Given the description of an element on the screen output the (x, y) to click on. 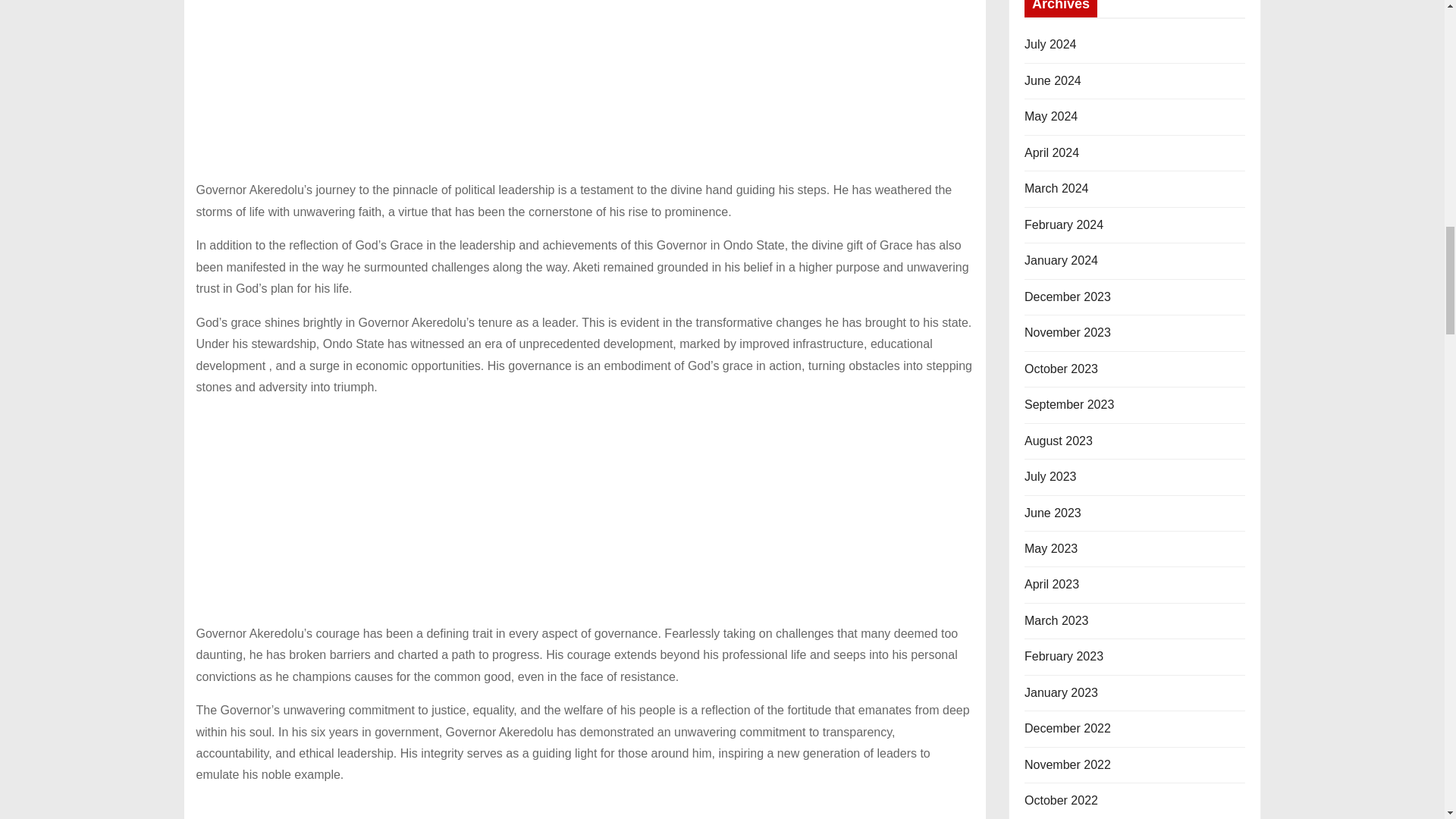
Advertisement (584, 808)
